Given the description of an element on the screen output the (x, y) to click on. 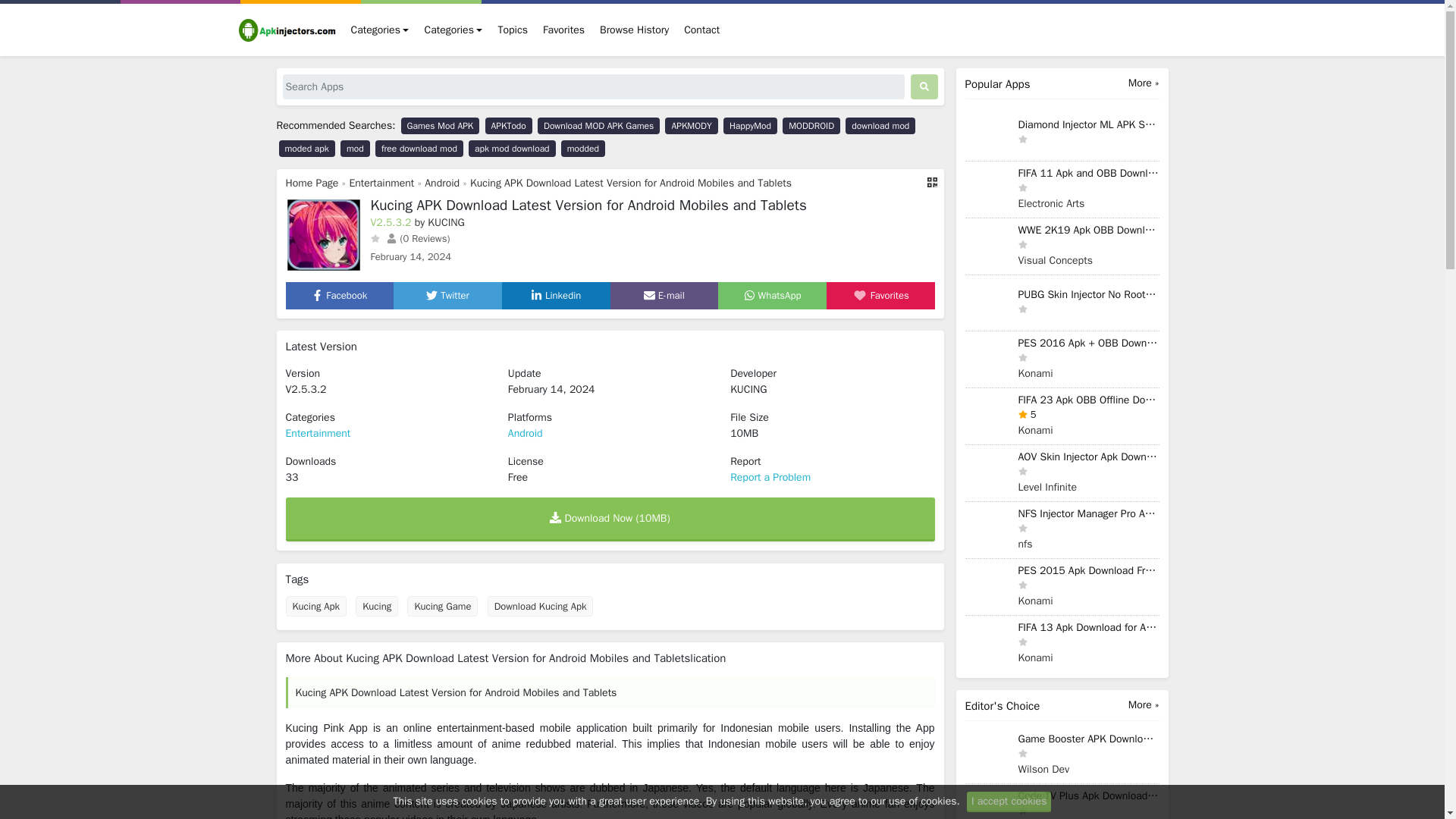
Entertainment (381, 182)
Android (442, 182)
Download MOD APK Games (598, 125)
Categories (452, 29)
APKMODY (691, 125)
Games Mod APK (440, 125)
Browse History (634, 29)
Categories (378, 29)
Facebook (338, 295)
